Given the description of an element on the screen output the (x, y) to click on. 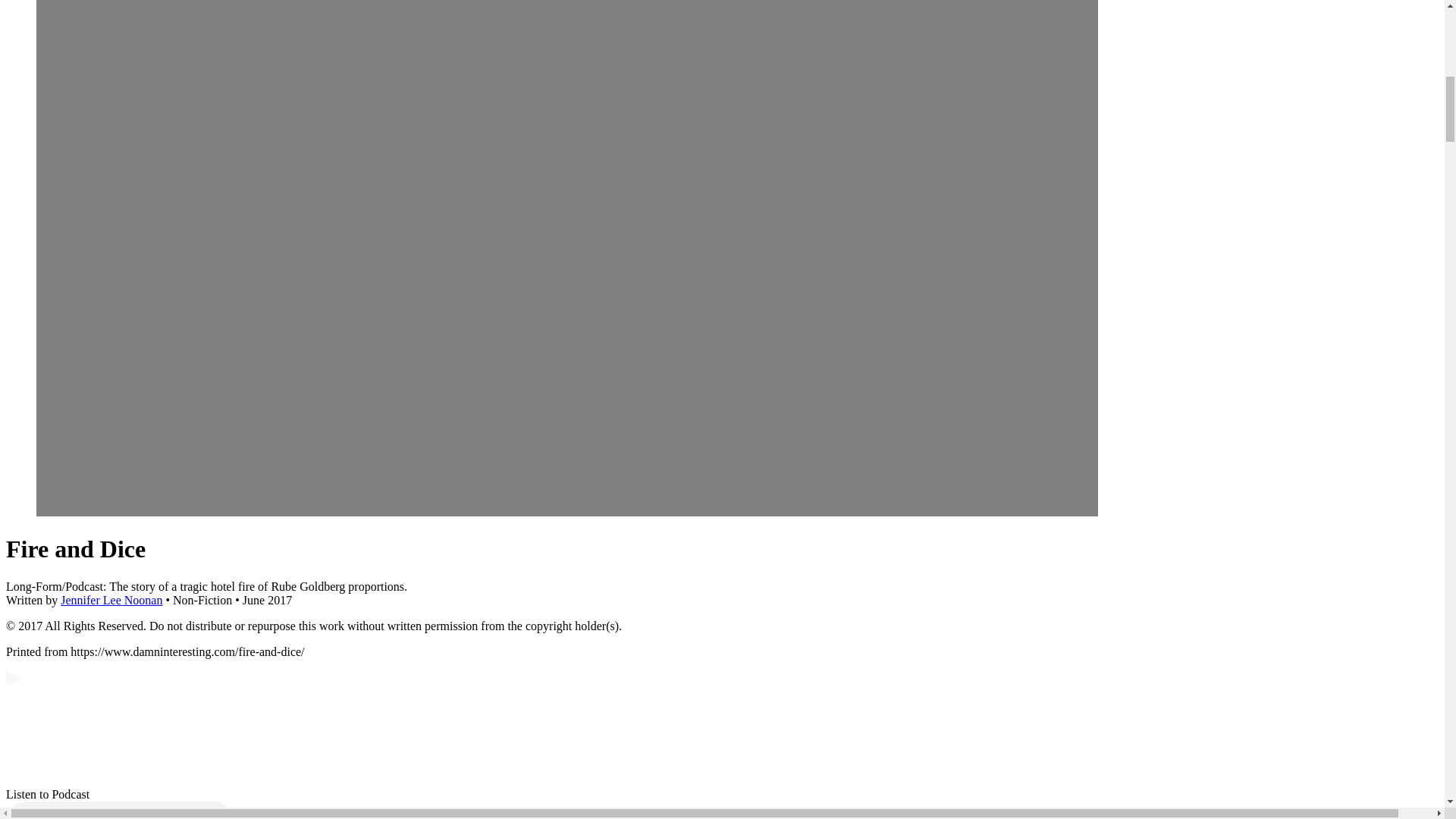
Jennifer Lee Noonan (111, 599)
